Given the description of an element on the screen output the (x, y) to click on. 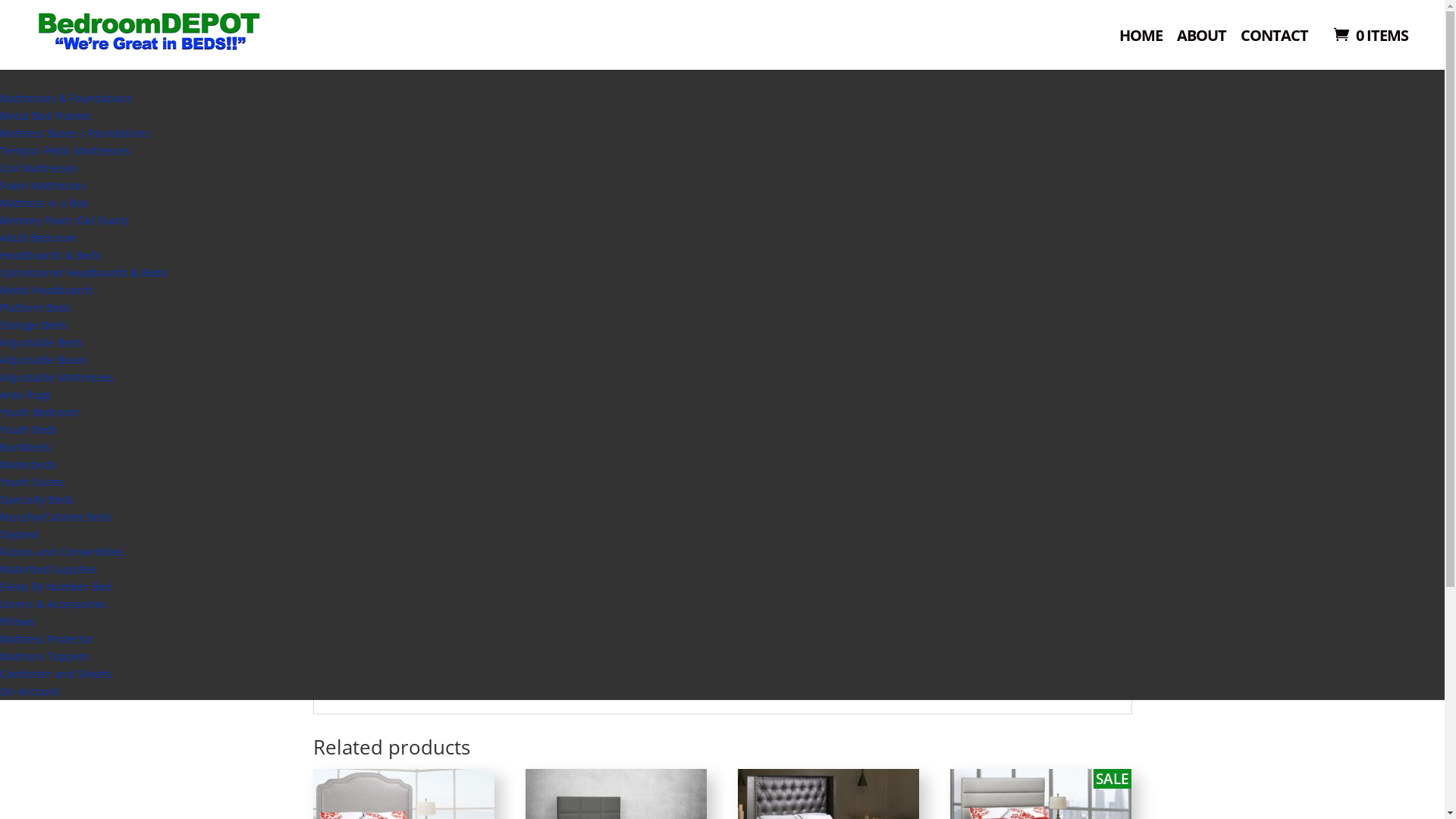
On Account Element type: text (29, 691)
Futons and Convertibles Element type: text (61, 551)
Platform Beds Element type: text (35, 307)
Adjustable Bases Element type: text (43, 359)
Storage Beds Element type: text (33, 324)
Murphy/Cabinet Beds Element type: text (55, 516)
Memory Foam (Gel Foam) Element type: text (64, 220)
Youth Beds Element type: text (28, 429)
Adult Bedroom Element type: text (38, 237)
Adjustable Mattresses Element type: text (56, 377)
Area Rugs Element type: text (25, 394)
CONTACT Element type: text (1274, 41)
Mattress in a Box Element type: text (43, 202)
Bunkbeds Element type: text (25, 446)
Daybed Element type: text (19, 534)
Beds and headboards Element type: text (397, 142)
Waterbed Supplies Element type: text (48, 568)
HOME Element type: text (1140, 41)
Tempur-Pedic Mattresses Element type: text (65, 150)
Metal Bed Frames Element type: text (45, 115)
Shop Element type: text (625, 58)
Short Description Element type: text (382, 664)
Foam Mattresses Element type: text (43, 185)
Sleep By Number Bed Element type: text (55, 586)
Metal Headboards Element type: text (47, 289)
Home Element type: text (326, 142)
Linens & Accessories Element type: text (53, 603)
Matesbeds Element type: text (28, 464)
Youth Bedroom Element type: text (39, 411)
0 ITEMS Element type: text (1369, 35)
Platform Beds Element type: text (488, 142)
Mattress Bases / Foundations Element type: text (75, 132)
Youth Suites Element type: text (31, 481)
Mattresses & Foundations Element type: text (66, 98)
ABOUT Element type: text (1201, 41)
Comforter and Sheets Element type: text (55, 673)
Headboards & Beds Element type: text (50, 254)
Adjustable Beds Element type: text (41, 342)
Pillows Element type: text (17, 621)
Specialty Beds Element type: text (36, 499)
Coil Mattresses Element type: text (39, 167)
Description Element type: text (797, 481)
Add to cart Element type: text (853, 362)
Upholstered Headboards & Beds Element type: text (83, 272)
Mattress Protector Element type: text (47, 638)
Mattress Toppers Element type: text (44, 656)
